Given the description of an element on the screen output the (x, y) to click on. 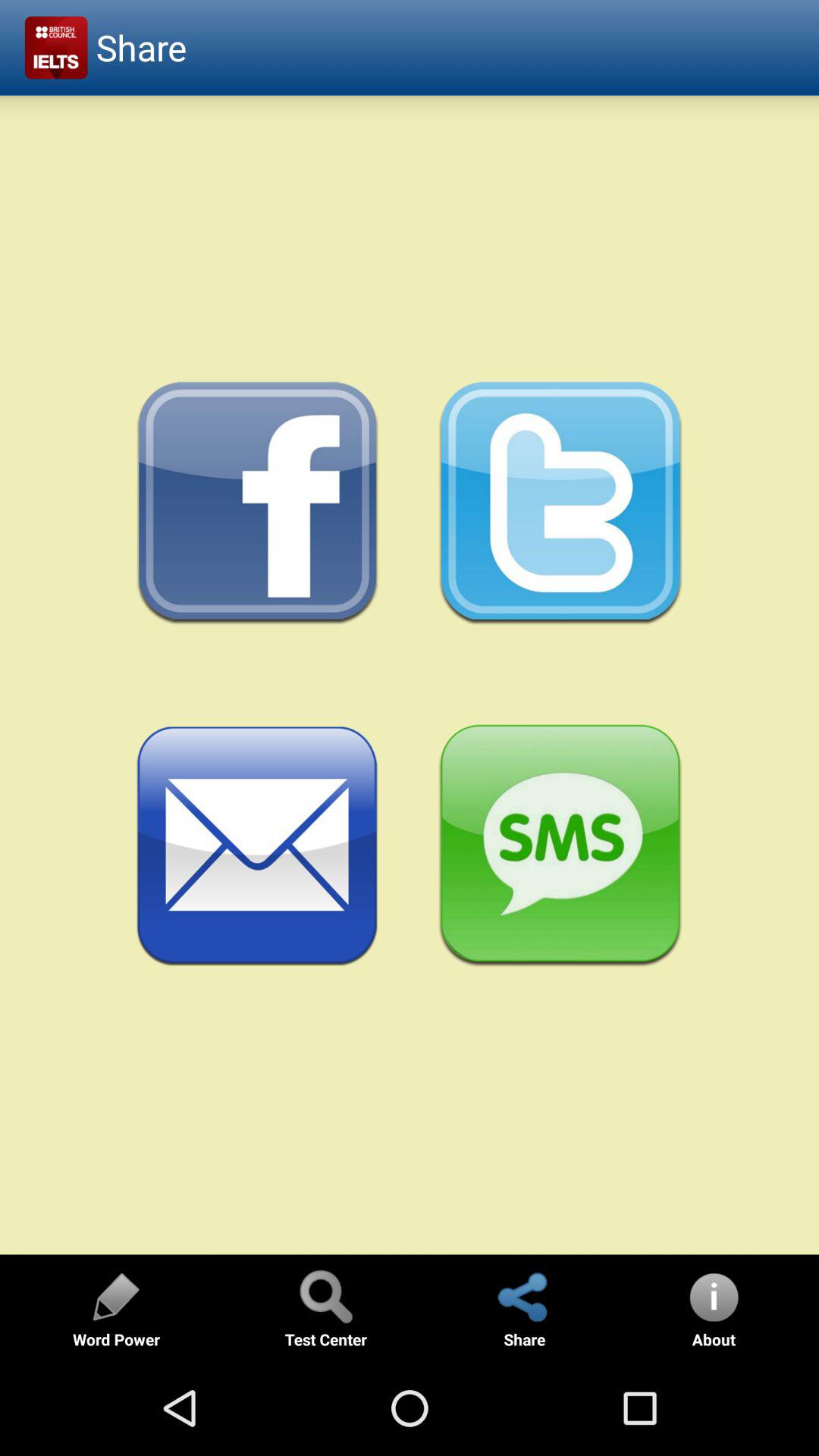
facebook share (257, 503)
